Given the description of an element on the screen output the (x, y) to click on. 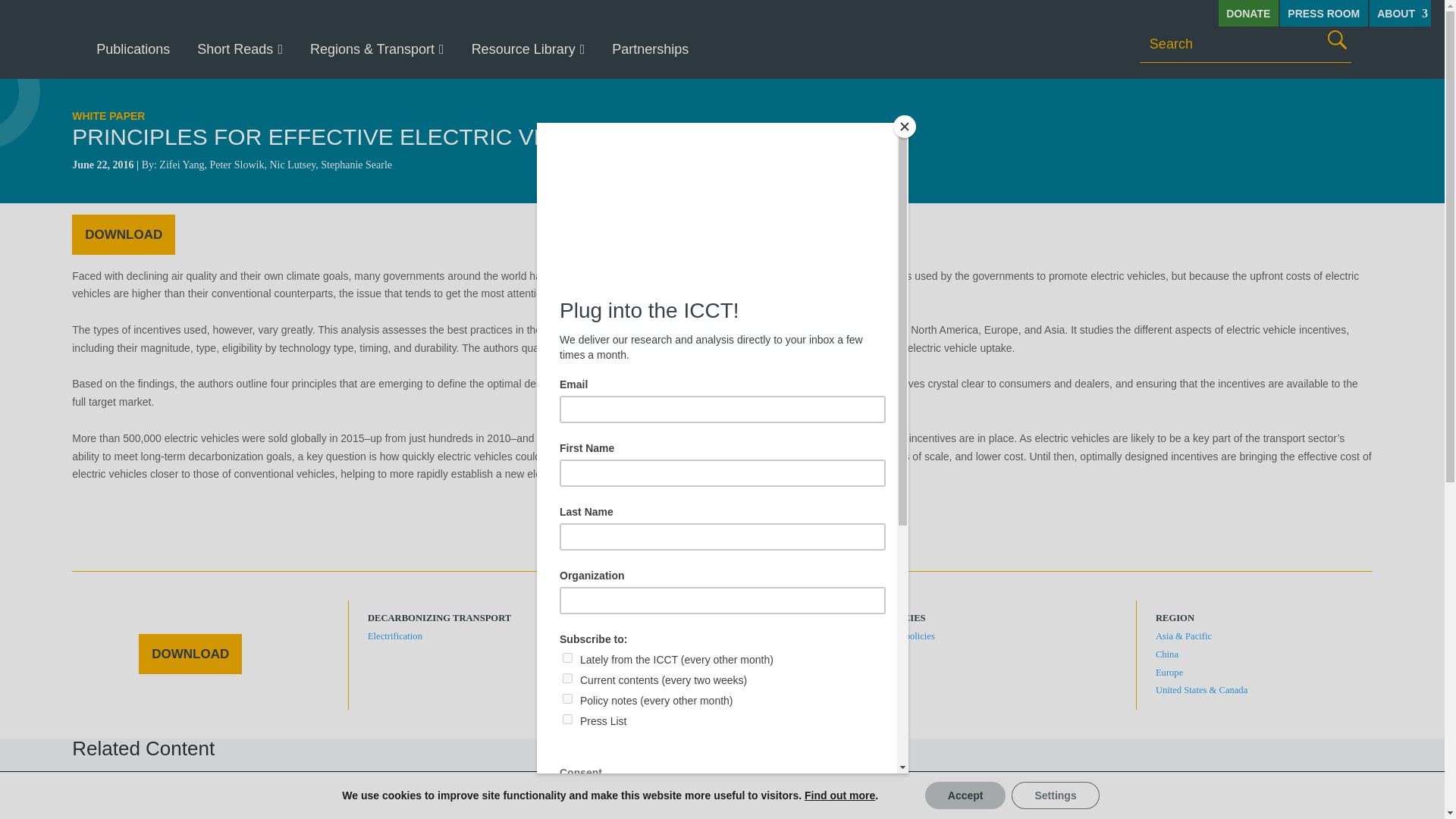
PRESS ROOM (1323, 13)
ABOUT (1400, 13)
DONATE (1248, 13)
Short Reads (240, 48)
Search (1337, 40)
Search (1337, 40)
Publications (132, 48)
